Given the description of an element on the screen output the (x, y) to click on. 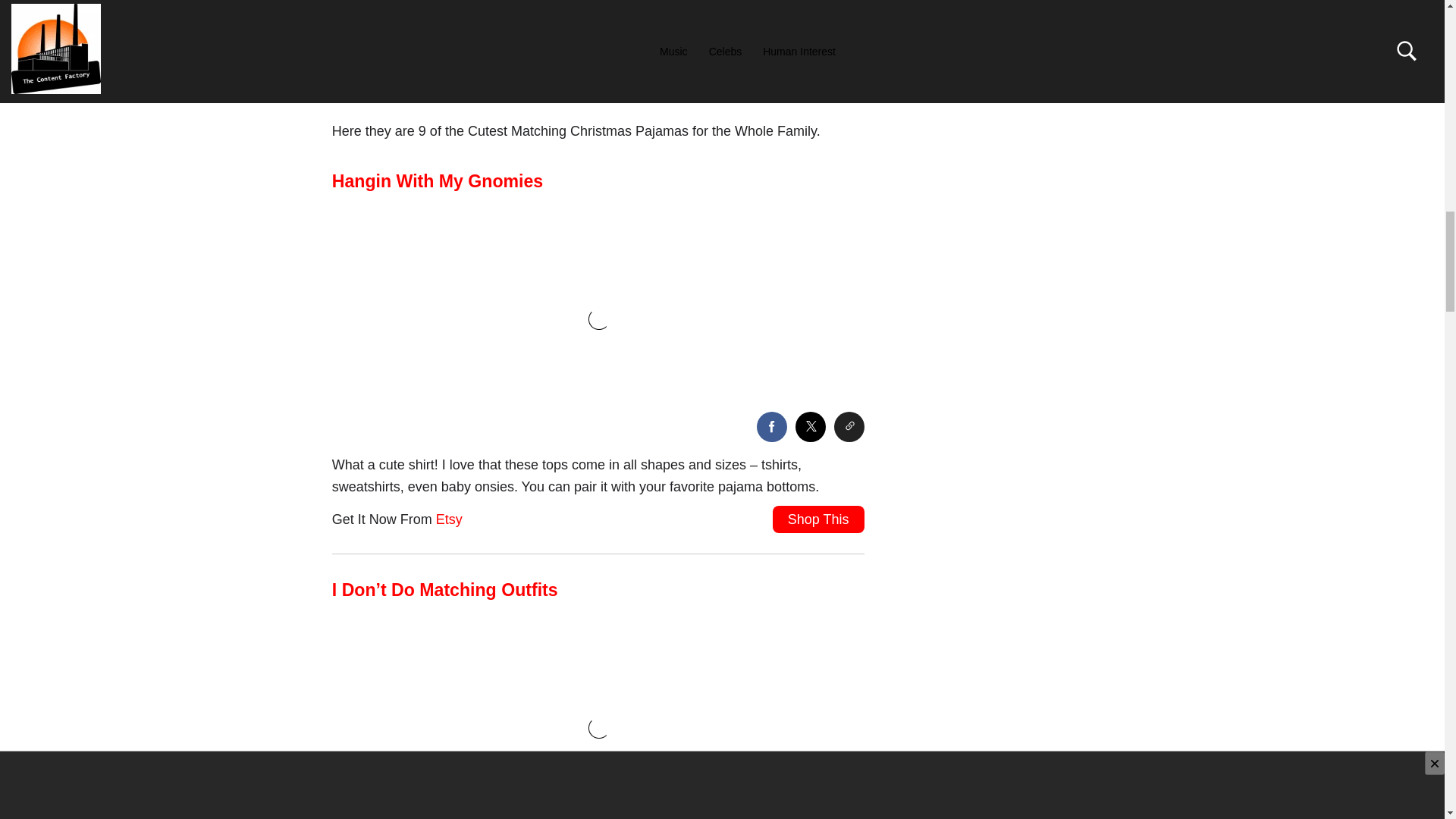
Shop This (818, 519)
Etsy (449, 519)
Hangin With My Gnomies  (439, 180)
